Given the description of an element on the screen output the (x, y) to click on. 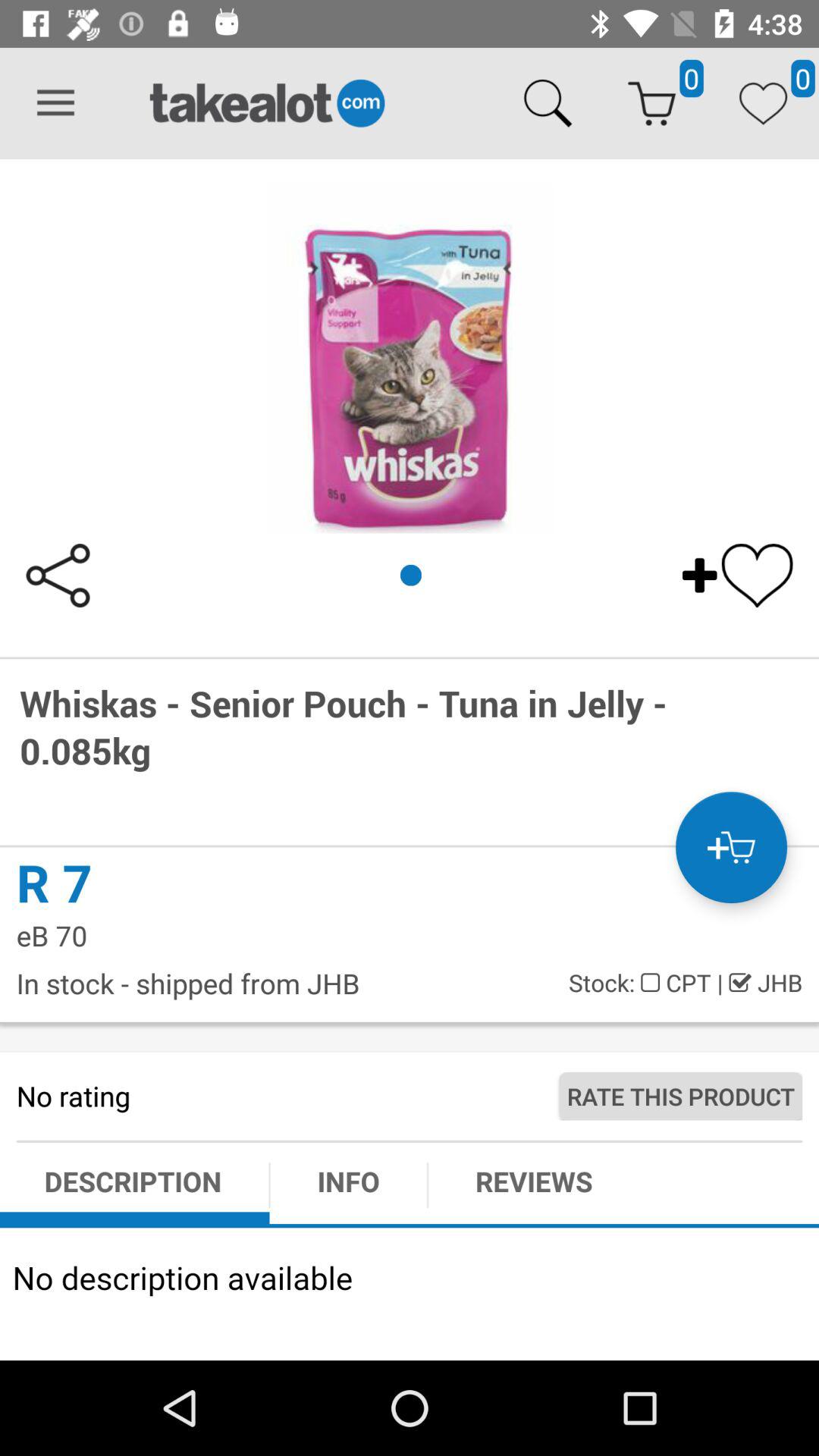
add to cart (731, 847)
